Given the description of an element on the screen output the (x, y) to click on. 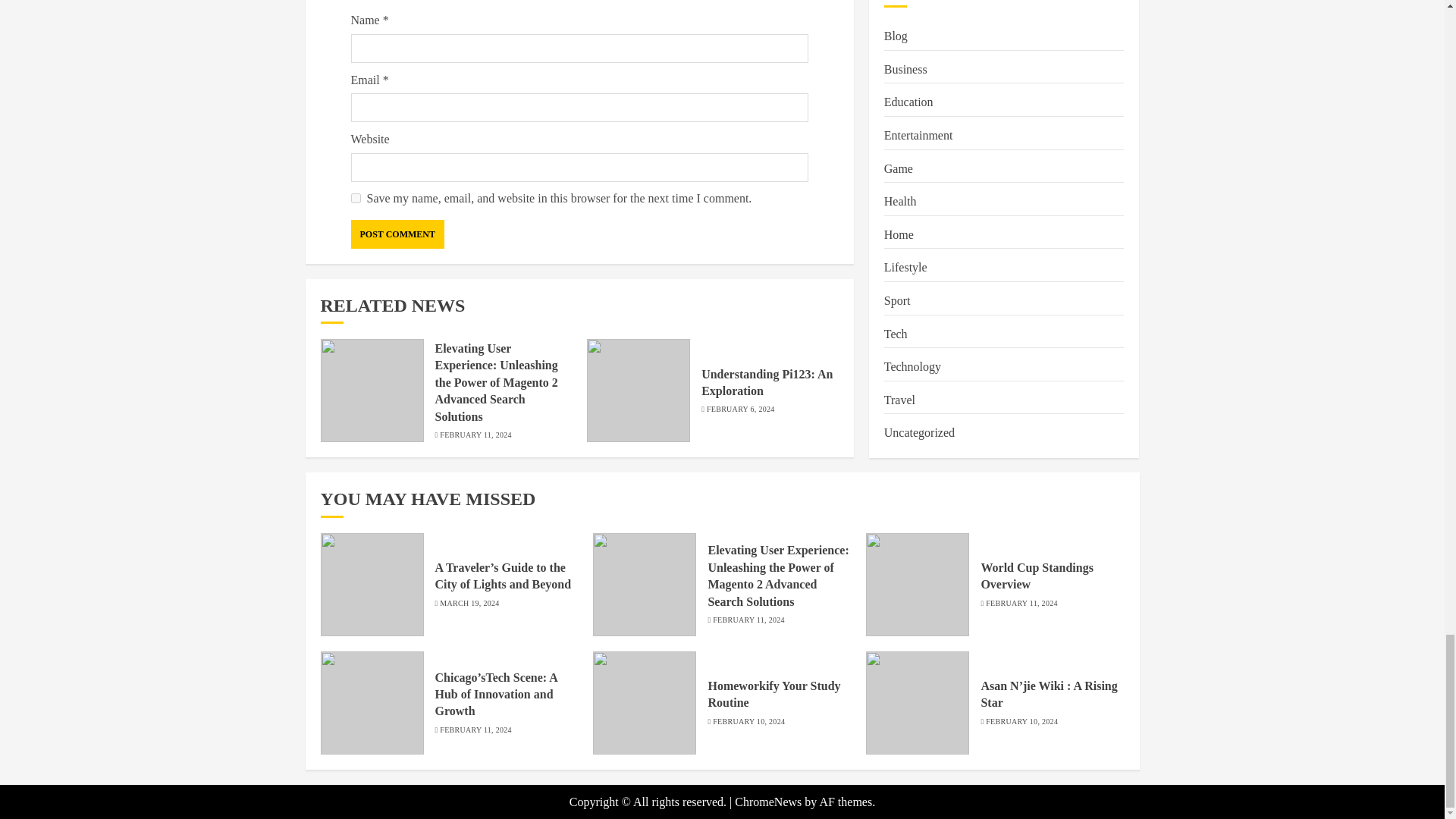
Post Comment (397, 234)
yes (354, 198)
Understanding Pi123: An Exploration (766, 382)
Post Comment (397, 234)
FEBRUARY 6, 2024 (740, 409)
FEBRUARY 11, 2024 (475, 434)
